Given the description of an element on the screen output the (x, y) to click on. 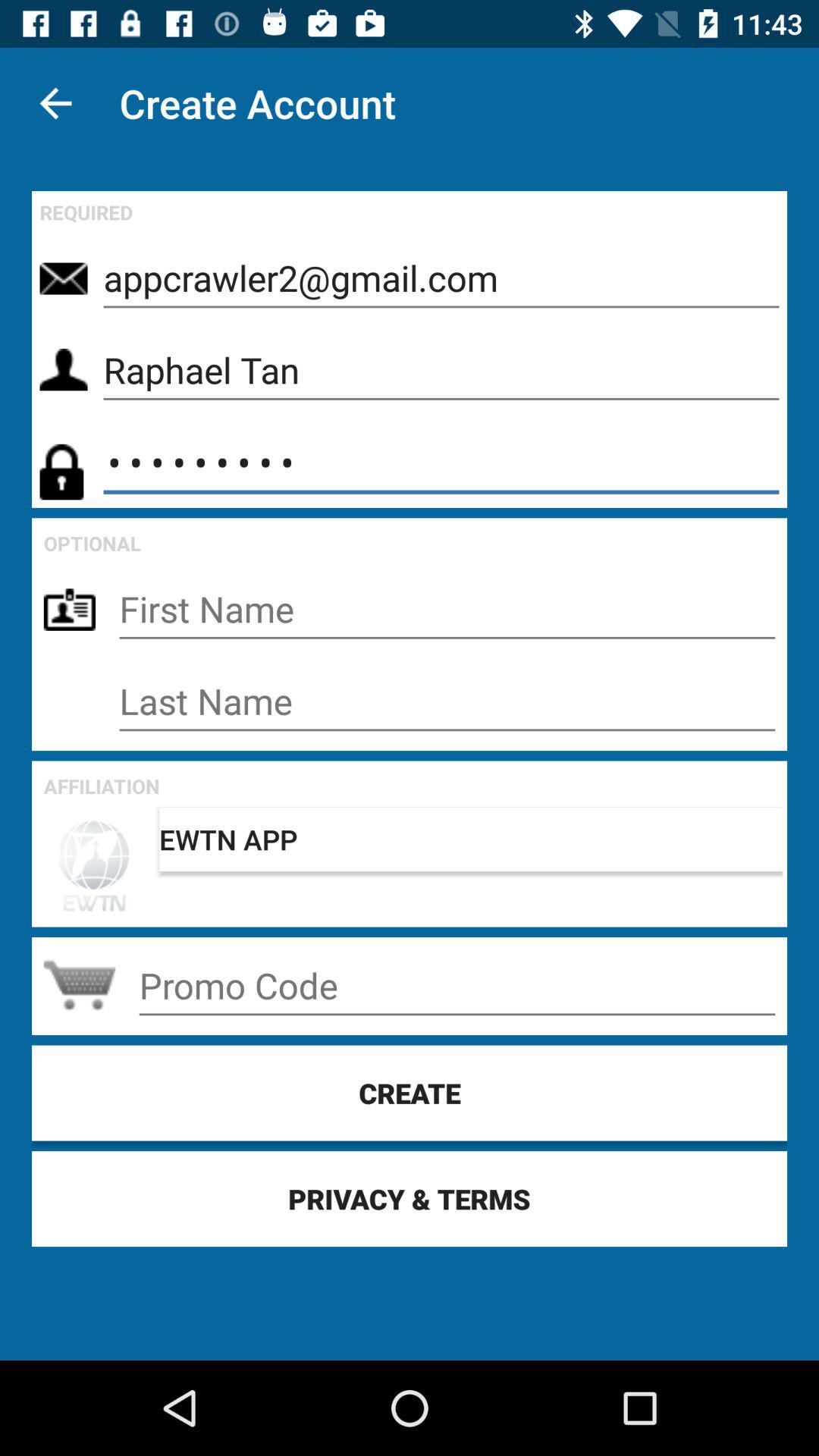
open the icon above crowd3116 icon (441, 370)
